Given the description of an element on the screen output the (x, y) to click on. 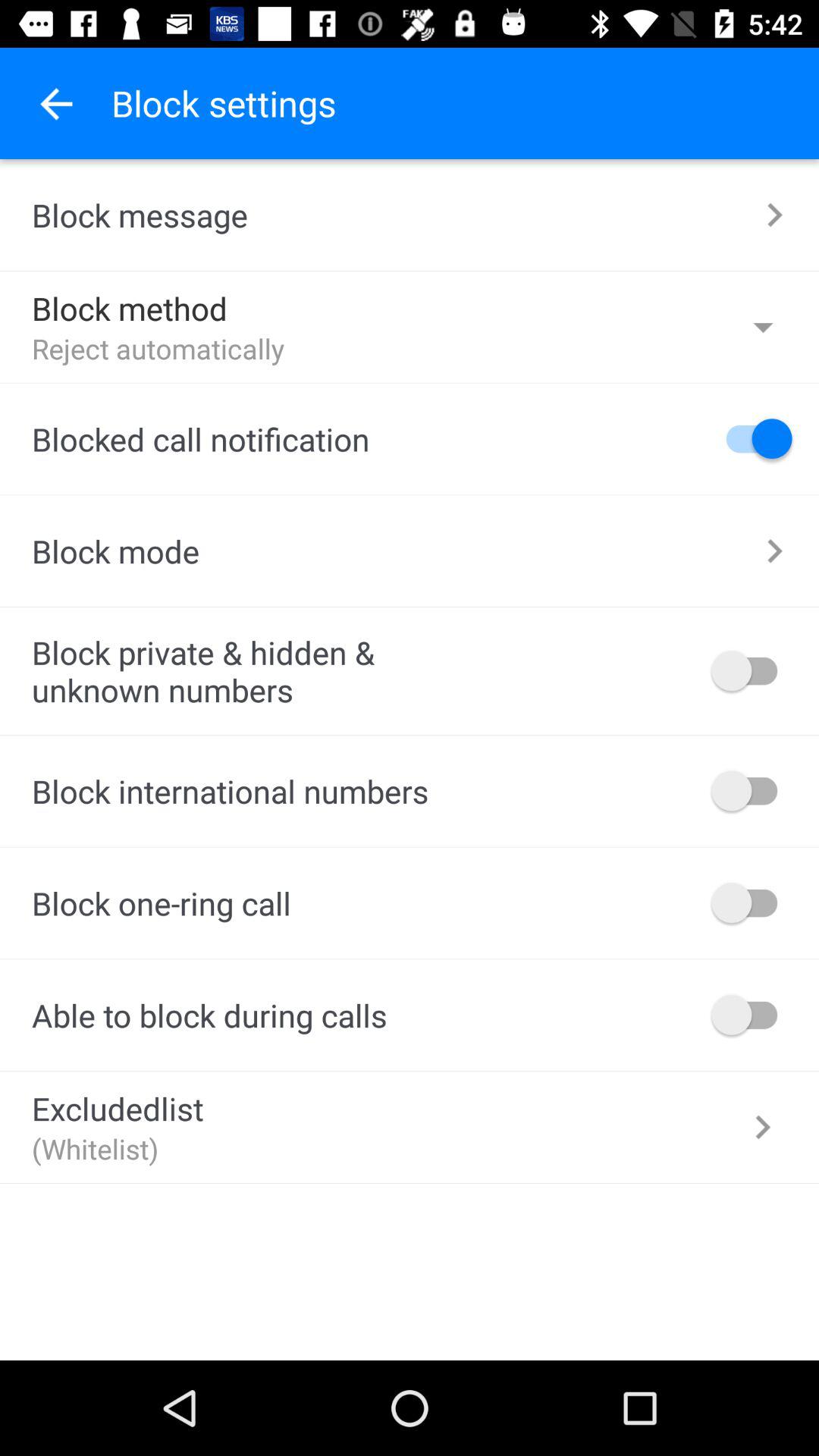
toggle block on international calls (751, 790)
